Given the description of an element on the screen output the (x, y) to click on. 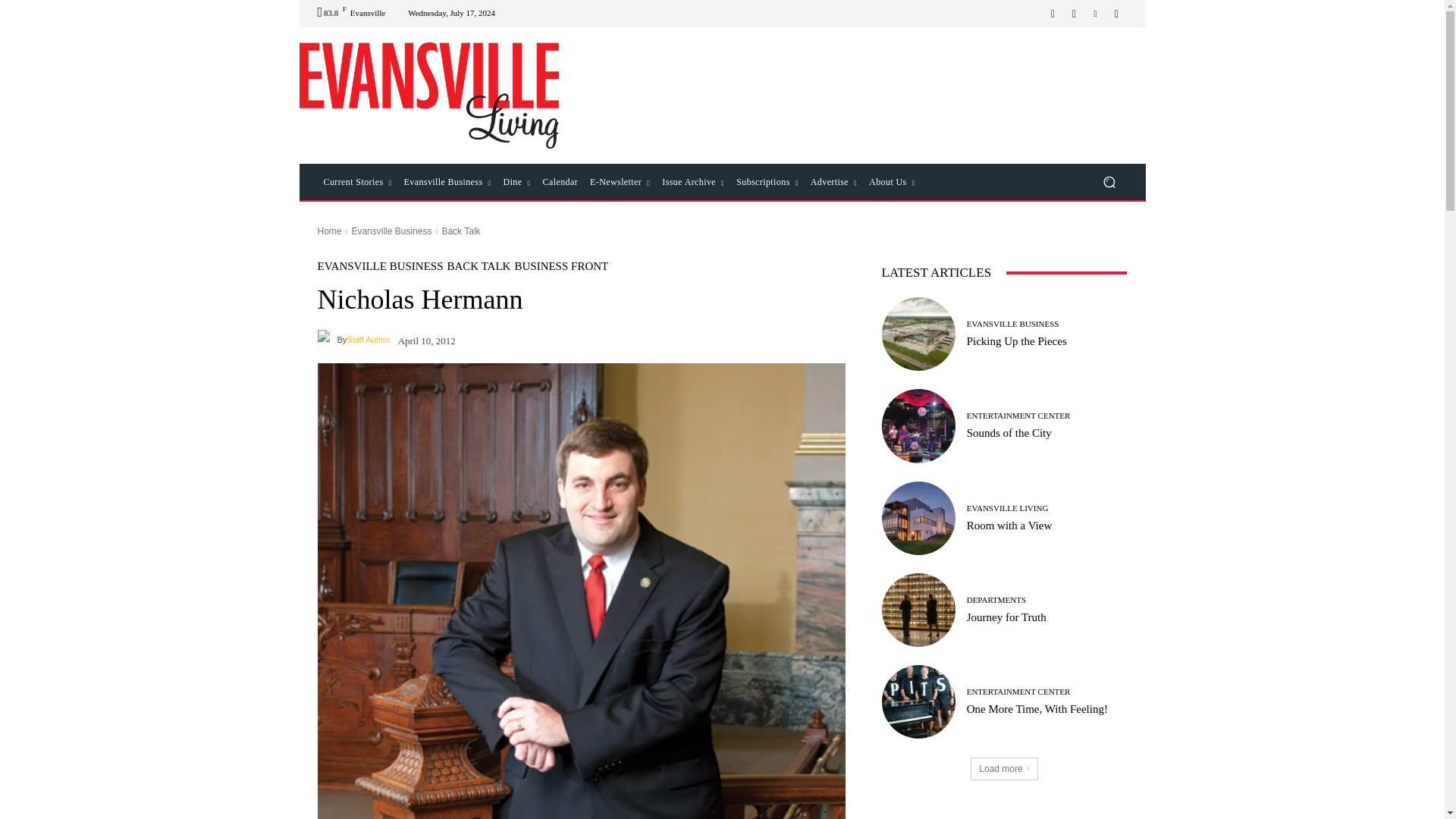
Linkedin (1094, 13)
Facebook (1052, 13)
Staff Author (326, 339)
View all posts in Evansville Business (390, 231)
Instagram (1073, 13)
View all posts in Back Talk (460, 231)
Twitter (1115, 13)
